Given the description of an element on the screen output the (x, y) to click on. 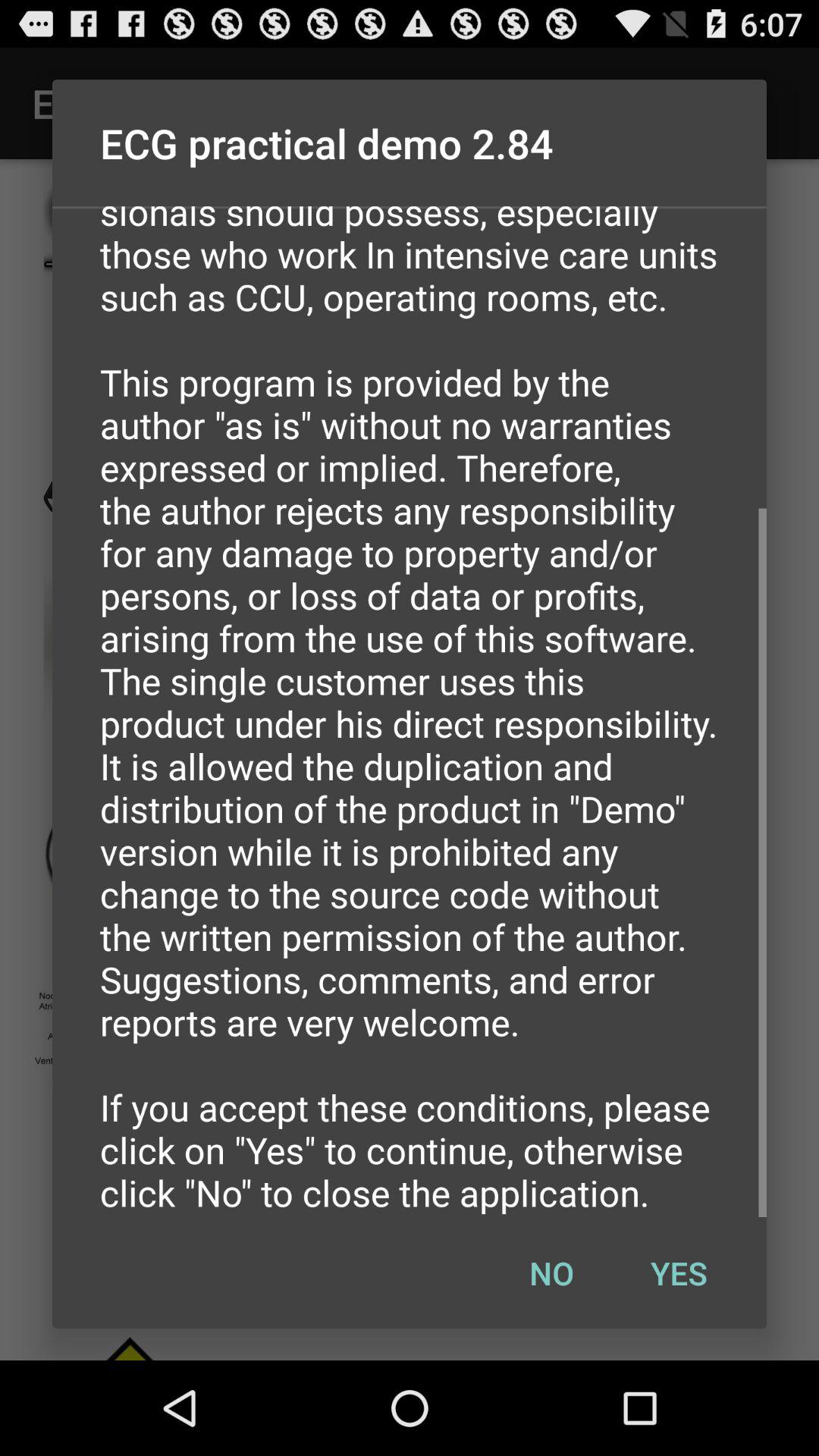
launch the item below the kapelis aristidis 2014 (678, 1272)
